Given the description of an element on the screen output the (x, y) to click on. 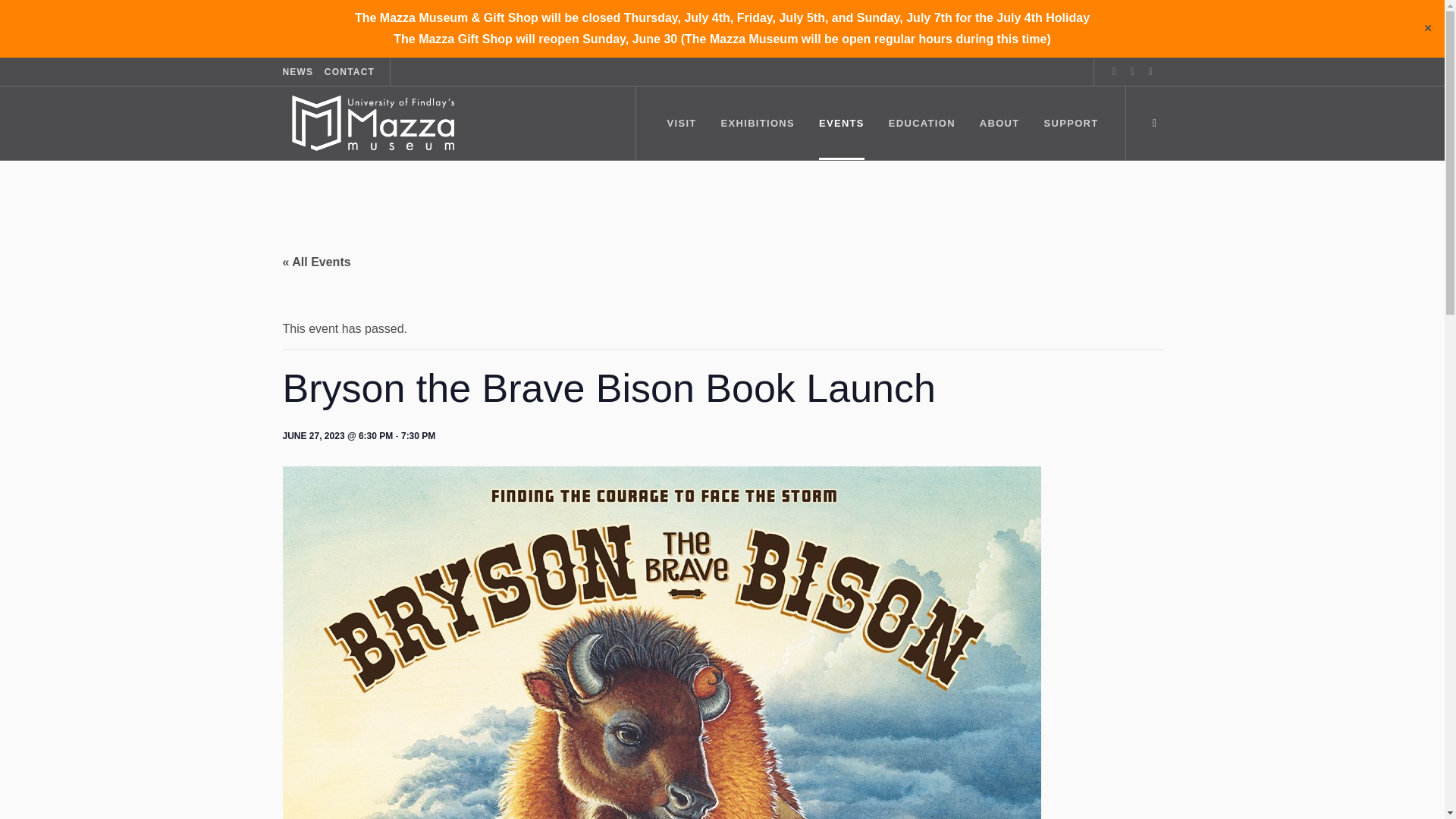
SUPPORT (1070, 122)
Instagram (1132, 71)
EXHIBITIONS (757, 122)
EVENTS (841, 122)
Facebook (1113, 71)
Twitter (1149, 71)
NEWS (297, 71)
EDUCATION (921, 122)
CONTACT (349, 71)
